Given the description of an element on the screen output the (x, y) to click on. 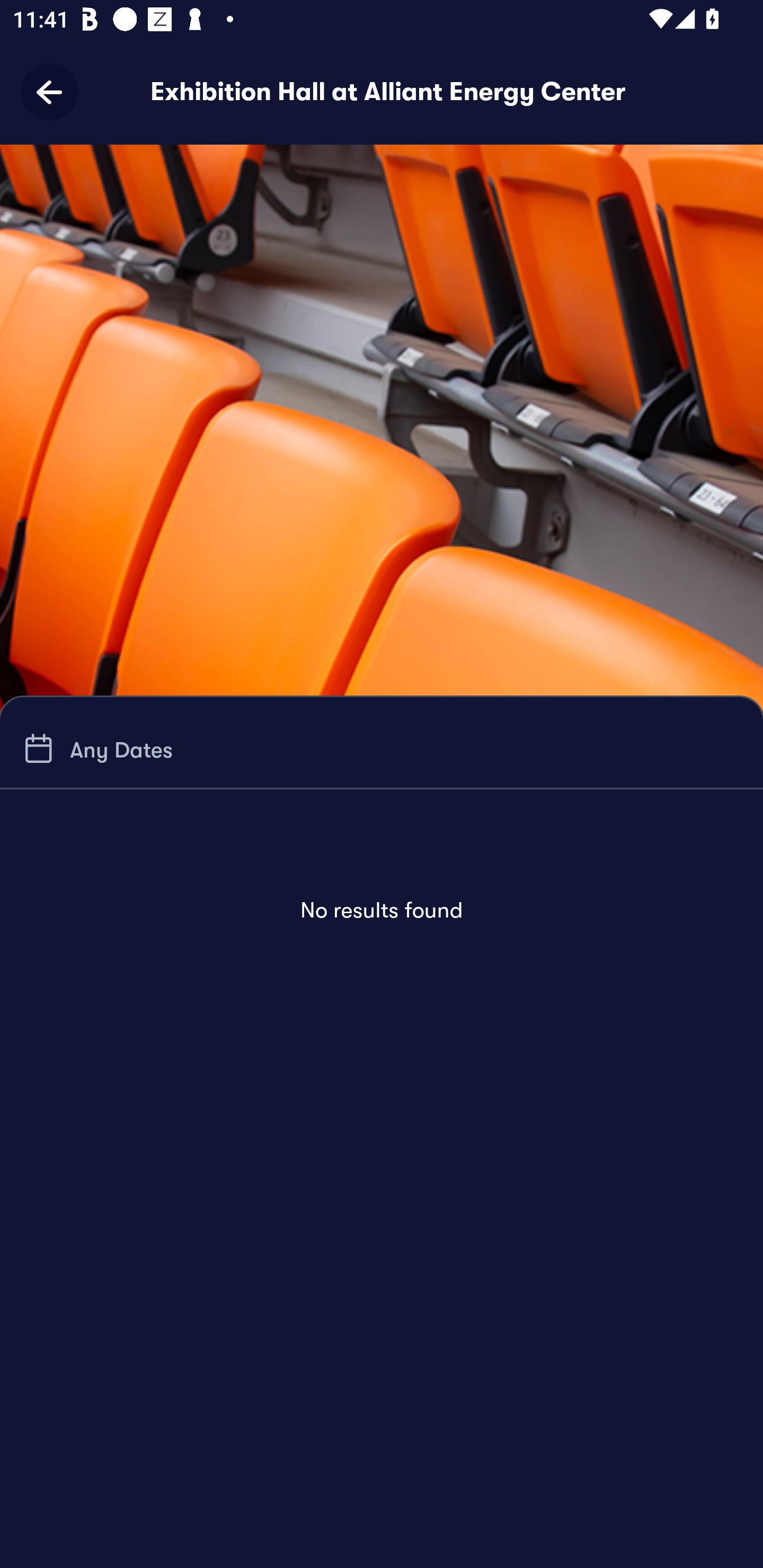
Any Dates (95, 749)
